Given the description of an element on the screen output the (x, y) to click on. 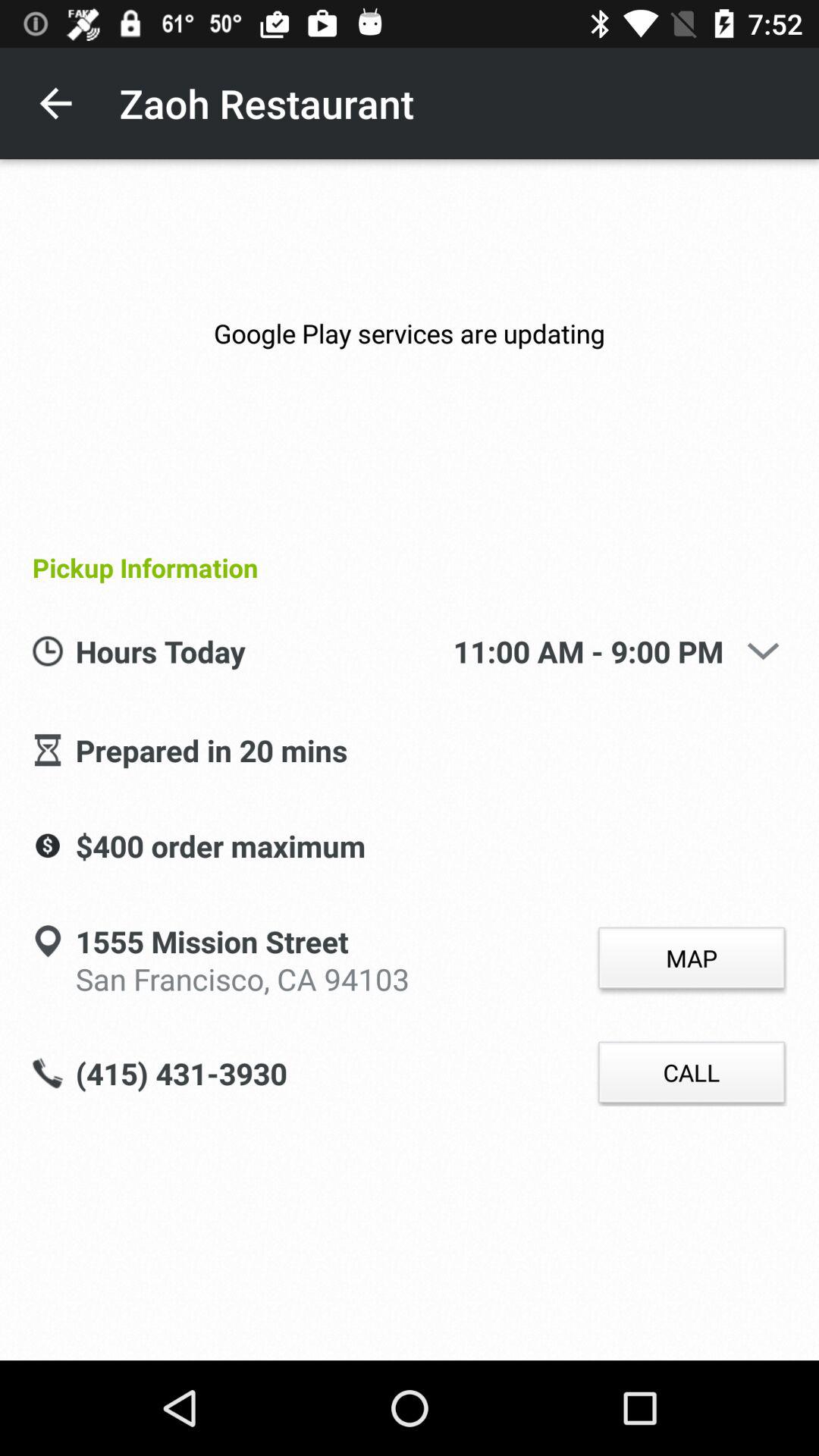
click the icon above map (763, 651)
